Given the description of an element on the screen output the (x, y) to click on. 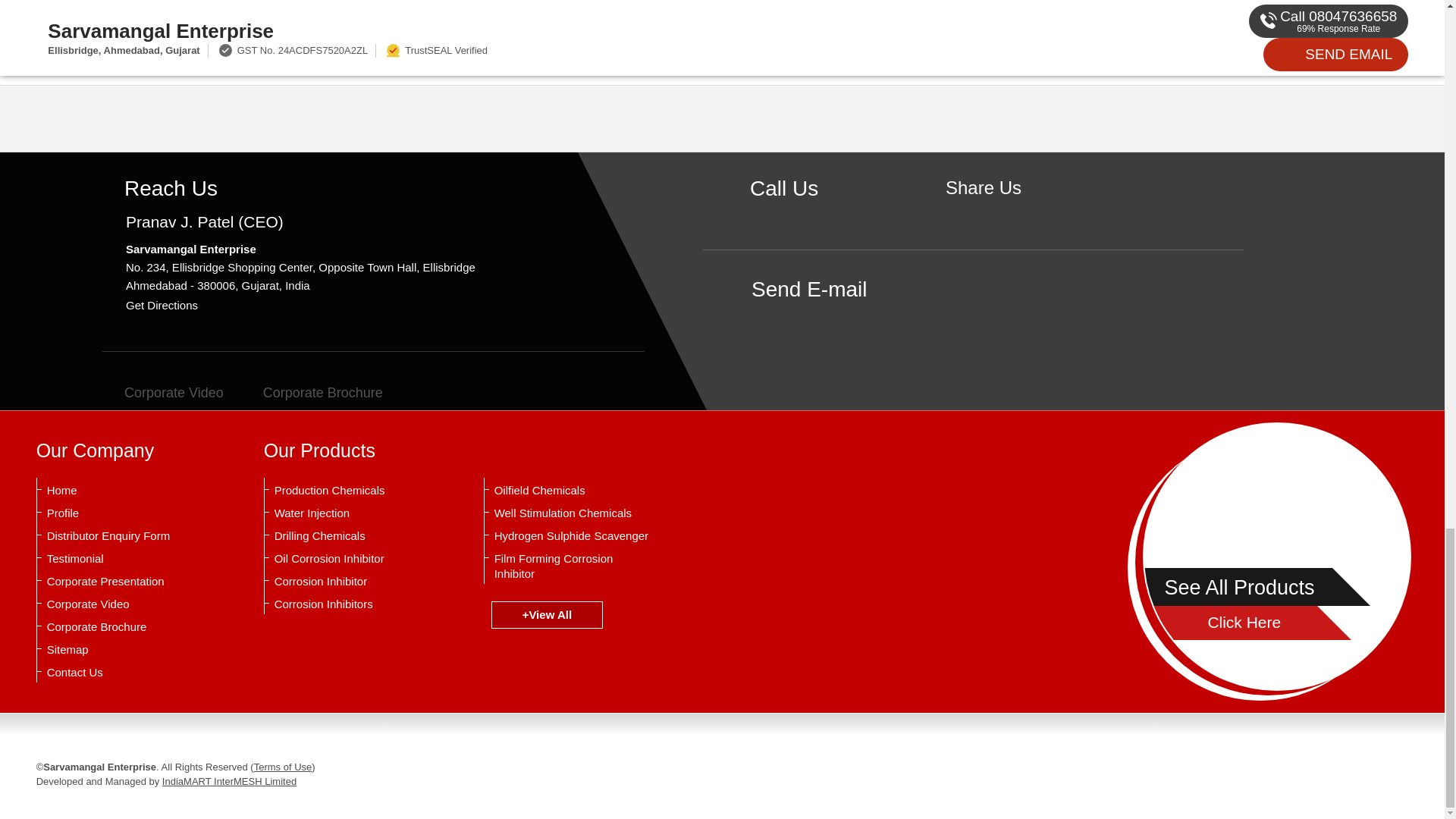
Corporate Video (162, 392)
Get Directions (161, 305)
